Given the description of an element on the screen output the (x, y) to click on. 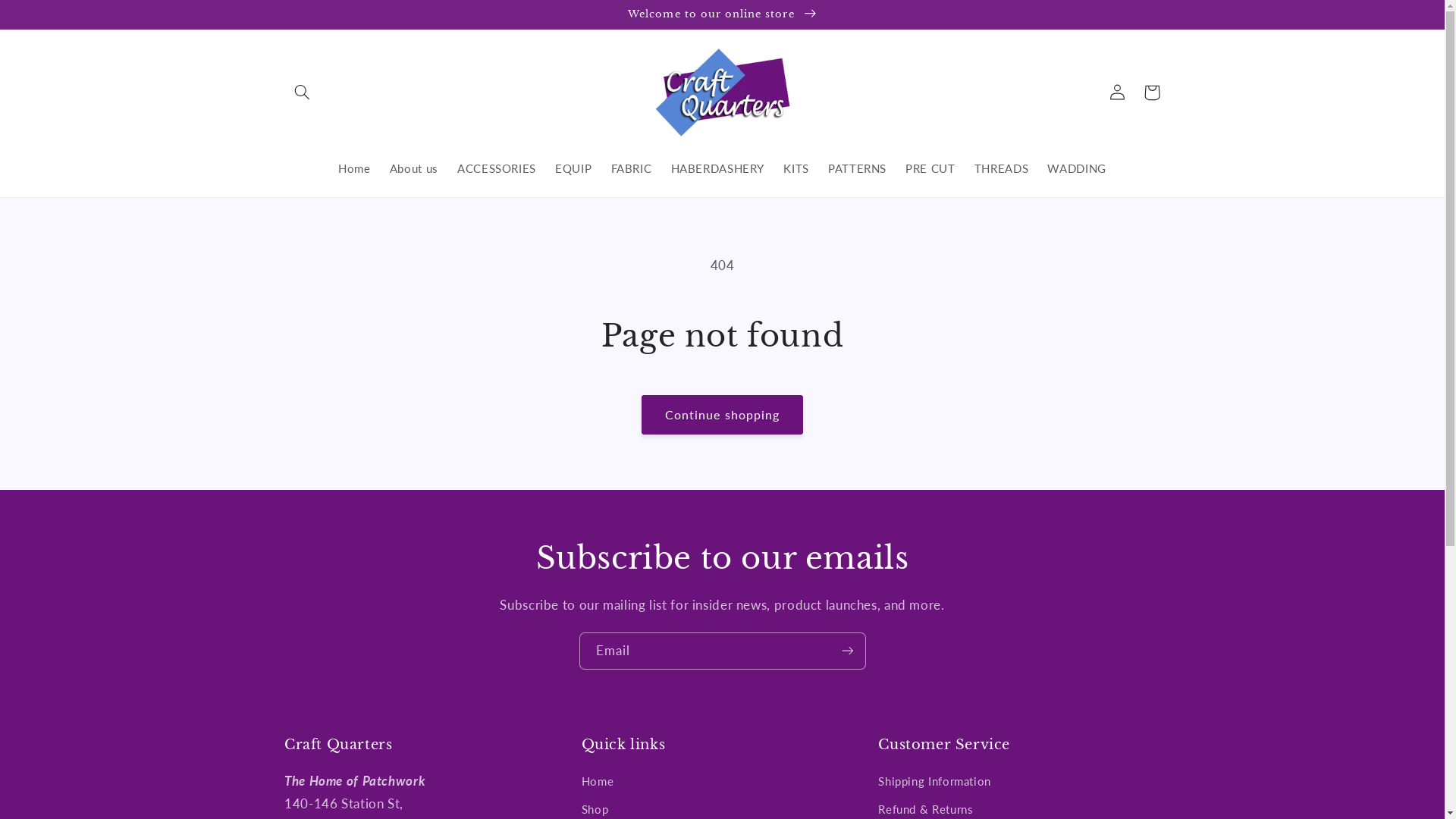
Shipping Information Element type: text (934, 783)
FABRIC Element type: text (631, 168)
WADDING Element type: text (1077, 168)
About us Element type: text (413, 168)
Home Element type: text (597, 783)
Cart Element type: text (1151, 92)
Welcome to our online store Element type: text (722, 14)
ACCESSORIES Element type: text (496, 168)
Log in Element type: text (1116, 92)
KITS Element type: text (796, 168)
PATTERNS Element type: text (856, 168)
HABERDASHERY Element type: text (717, 168)
Continue shopping Element type: text (722, 414)
EQUIP Element type: text (573, 168)
Home Element type: text (354, 168)
THREADS Element type: text (1001, 168)
PRE CUT Element type: text (930, 168)
